Given the description of an element on the screen output the (x, y) to click on. 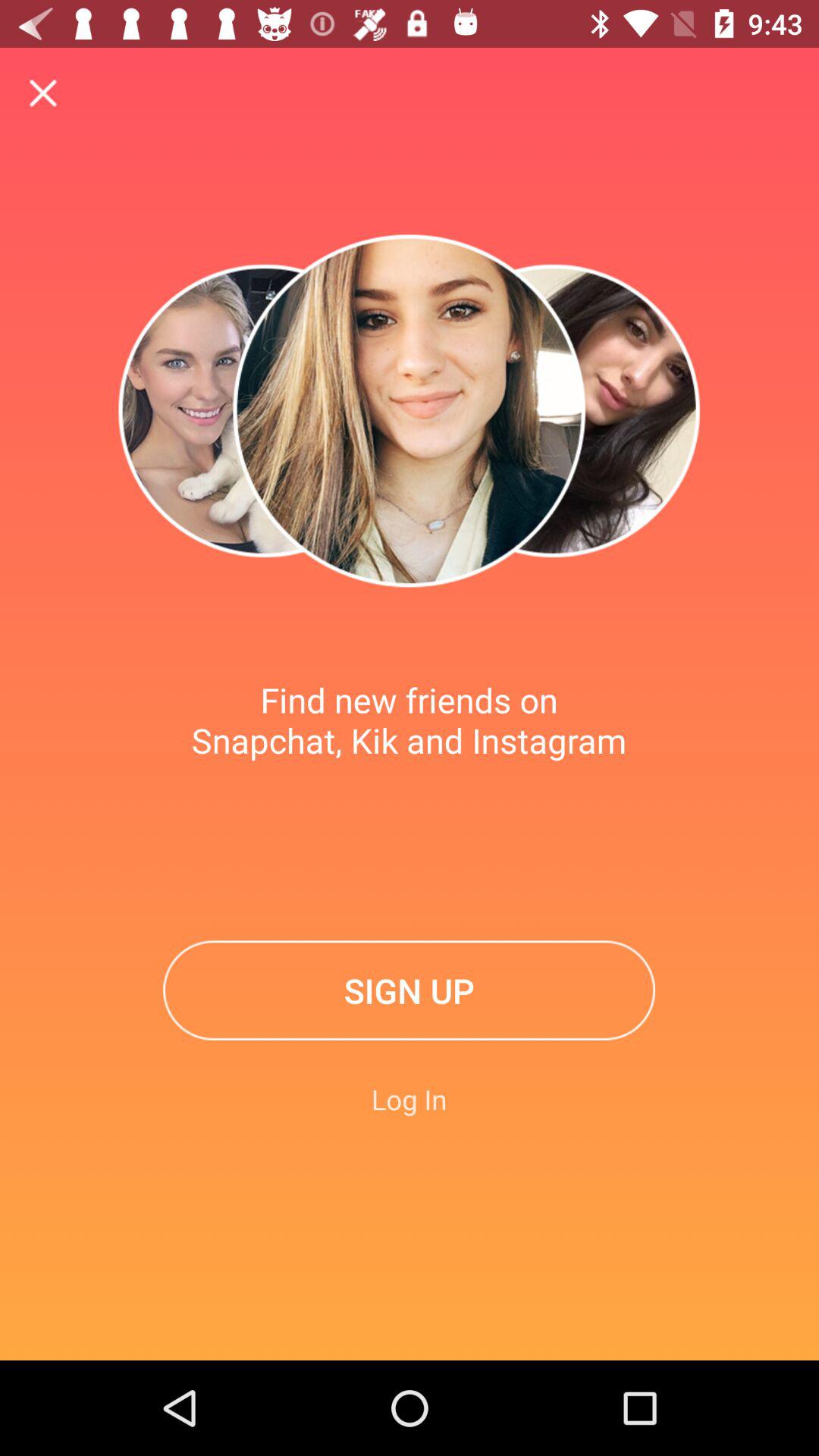
turn off the log in item (409, 1099)
